Given the description of an element on the screen output the (x, y) to click on. 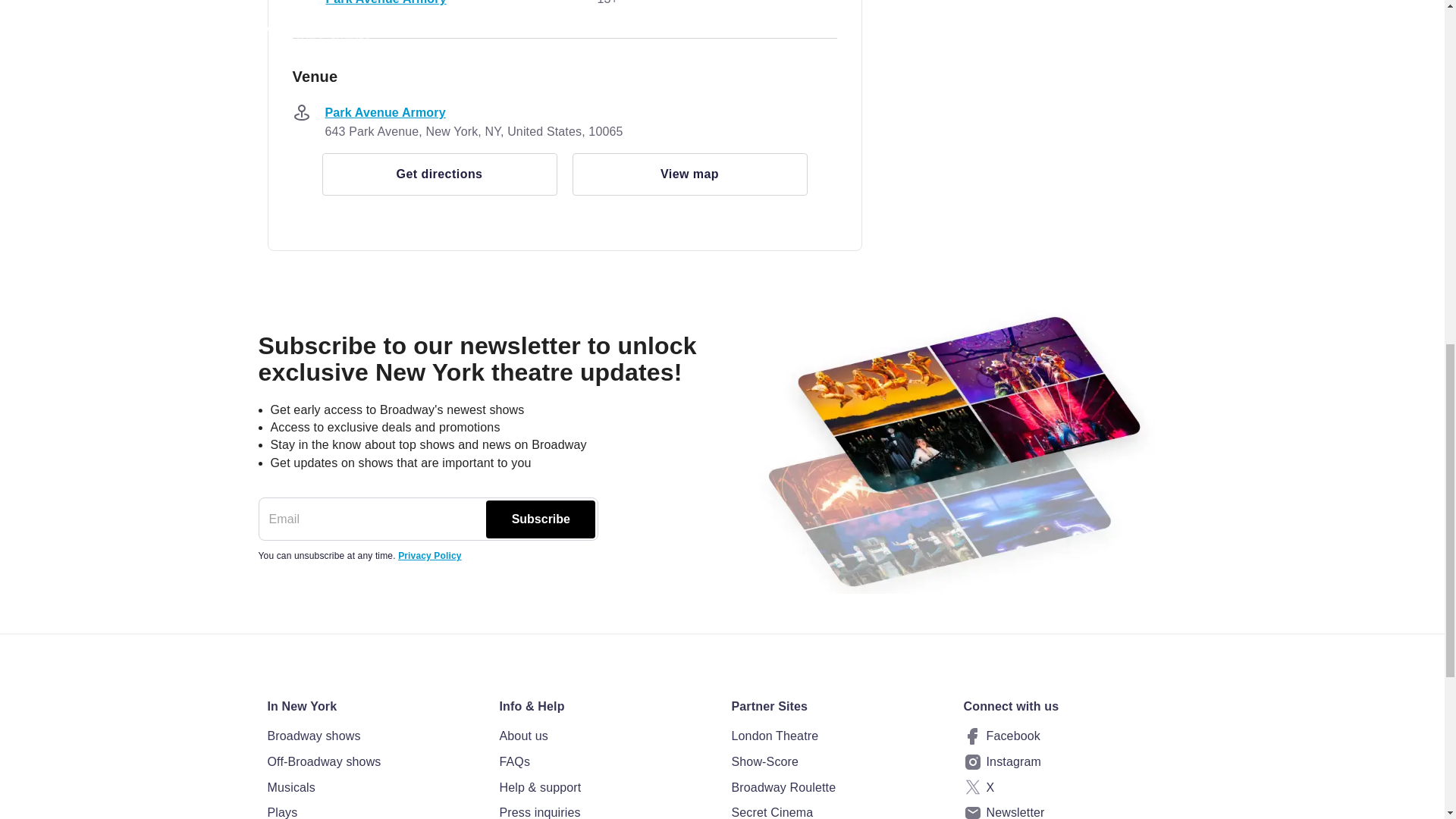
London Theatre (837, 736)
Off-Broadway shows (373, 762)
FAQs (606, 762)
Broadway Roulette (837, 787)
Musicals (373, 787)
Broadway shows (373, 736)
Press inquiries (606, 811)
About us (606, 736)
Plays (373, 811)
Show-Score (837, 762)
Secret Cinema (837, 811)
